Given the description of an element on the screen output the (x, y) to click on. 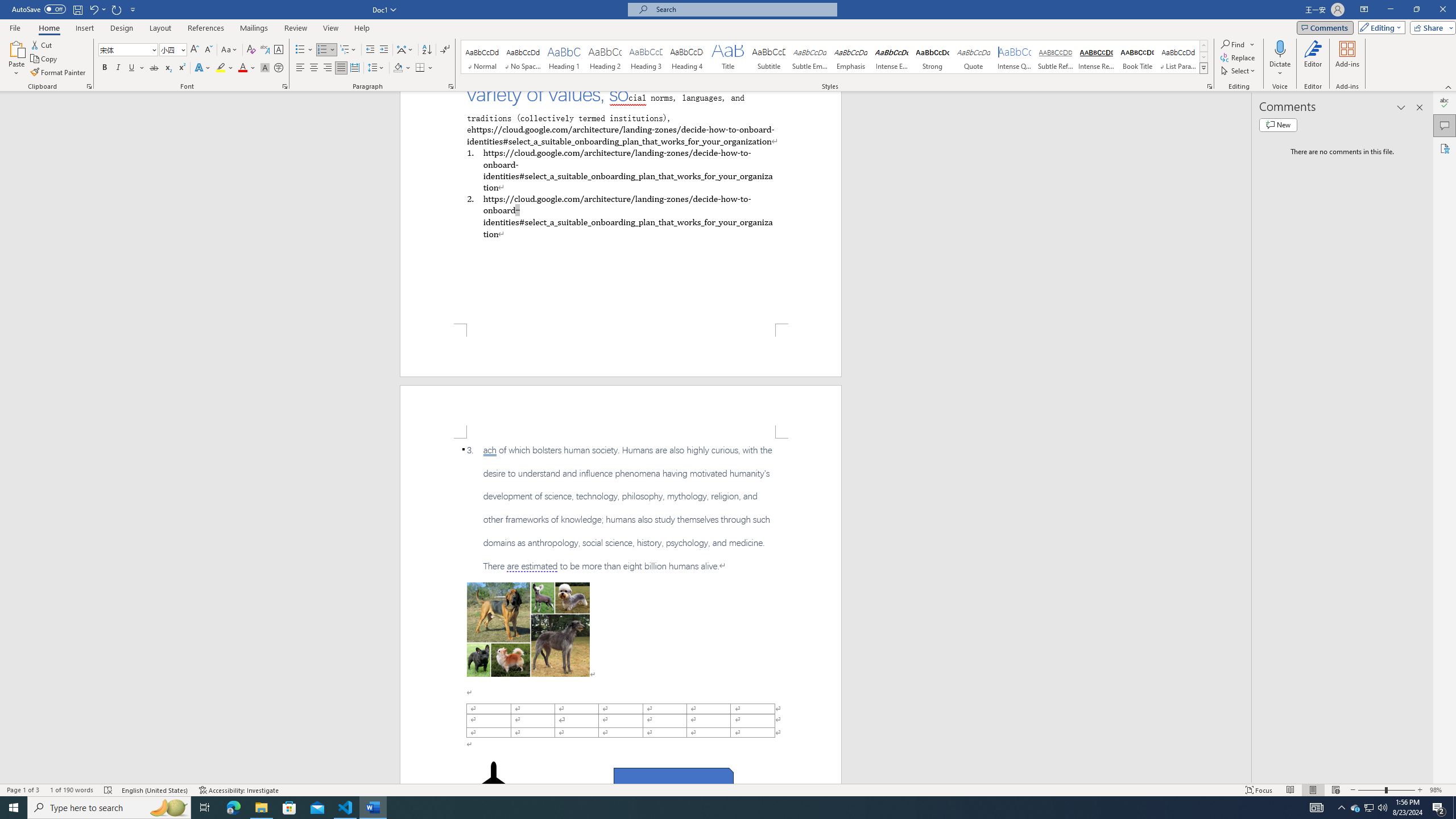
Rectangle: Diagonal Corners Snipped 2 (672, 781)
Help (361, 28)
Select (1238, 69)
Cut (42, 44)
Save (77, 9)
Microsoft search (742, 9)
Decrease Indent (370, 49)
Book Title (1136, 56)
Subtitle (768, 56)
Borders (419, 67)
Intense Emphasis (891, 56)
Subtle Emphasis (809, 56)
Character Shading (264, 67)
Accessibility (1444, 147)
